Given the description of an element on the screen output the (x, y) to click on. 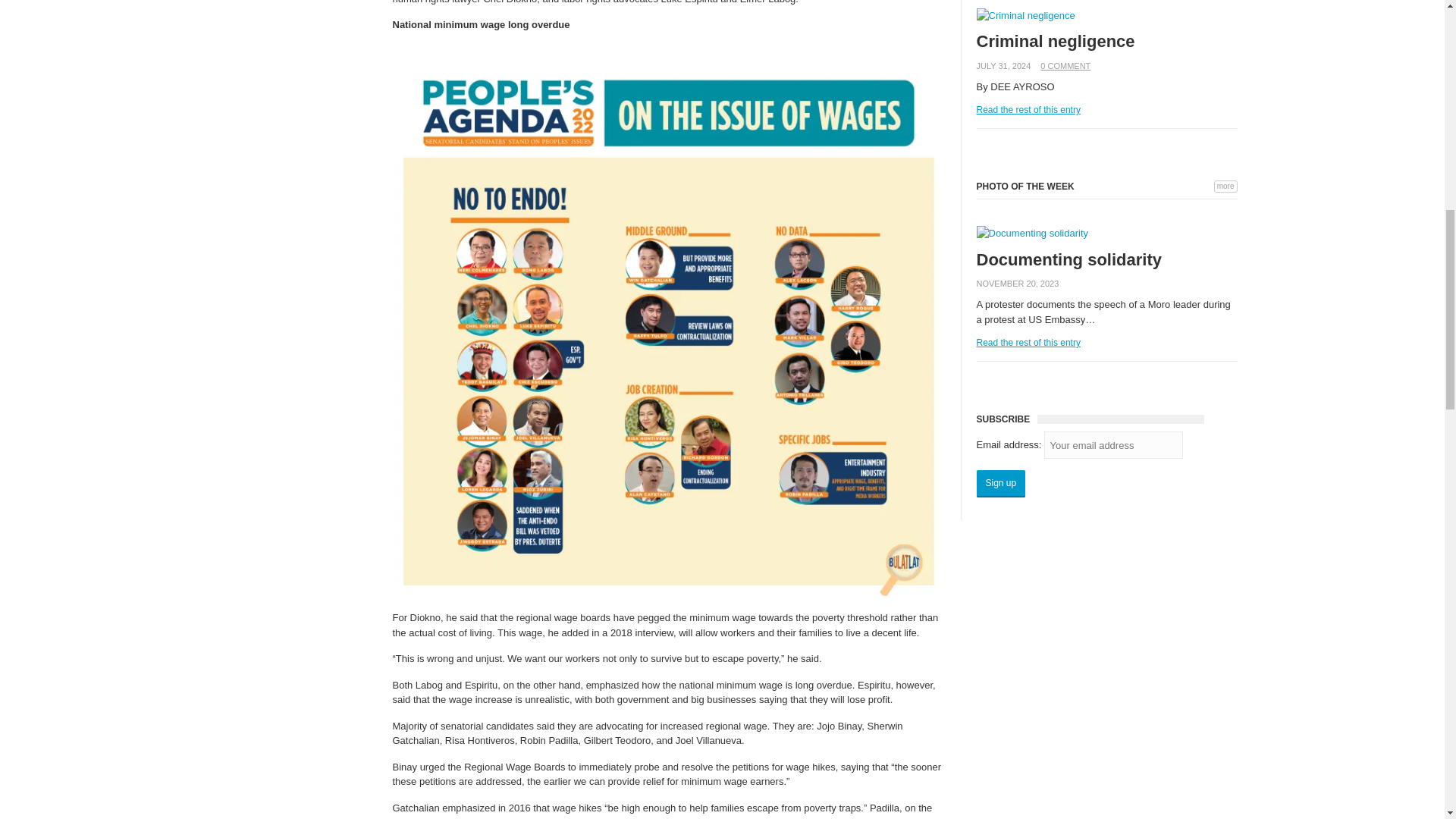
Sign up (1001, 483)
